Given the description of an element on the screen output the (x, y) to click on. 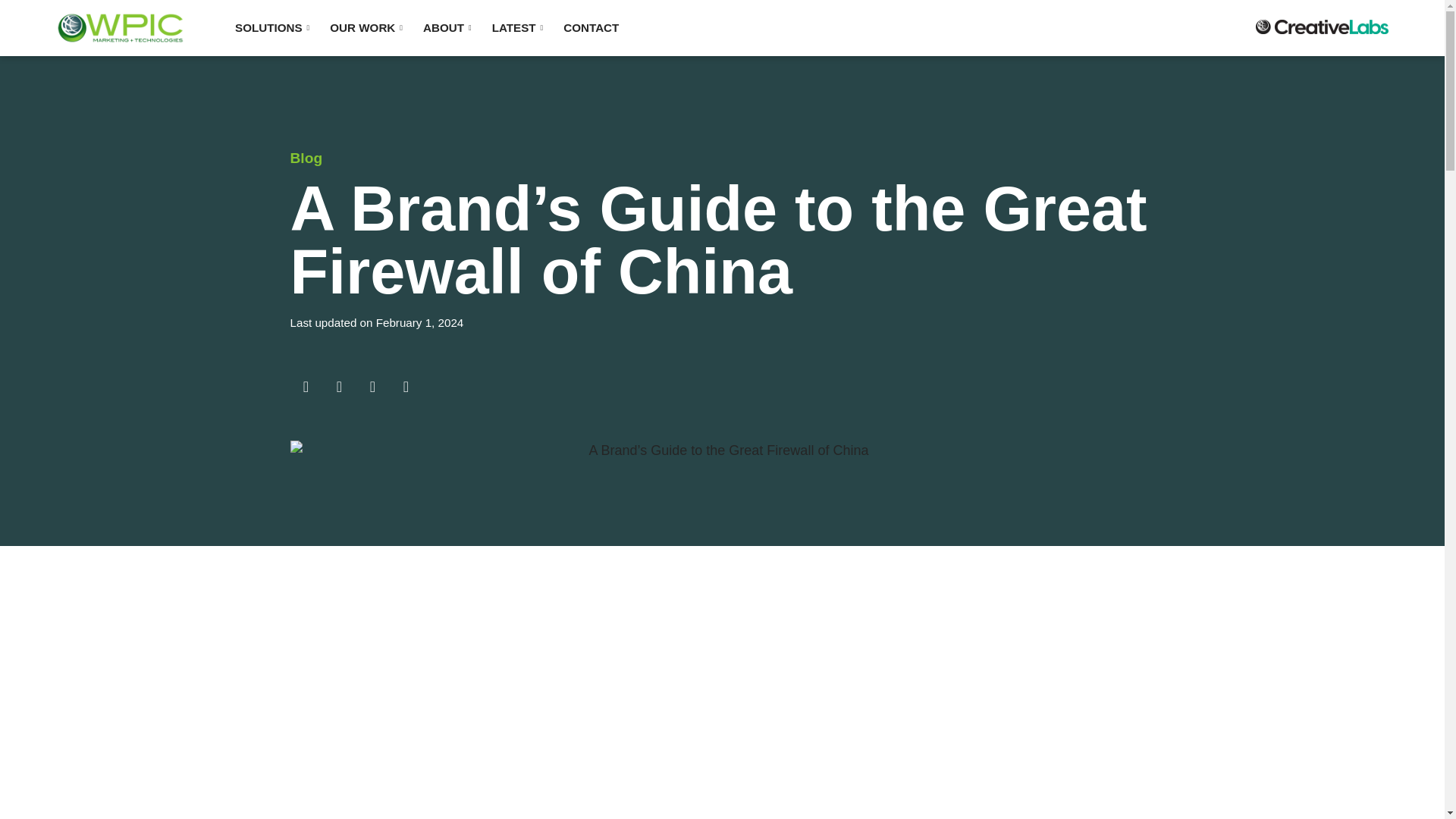
LATEST (518, 27)
SOLUTIONS (271, 27)
CONTACT (590, 27)
OUR WORK (366, 27)
ABOUT (446, 27)
